Given the description of an element on the screen output the (x, y) to click on. 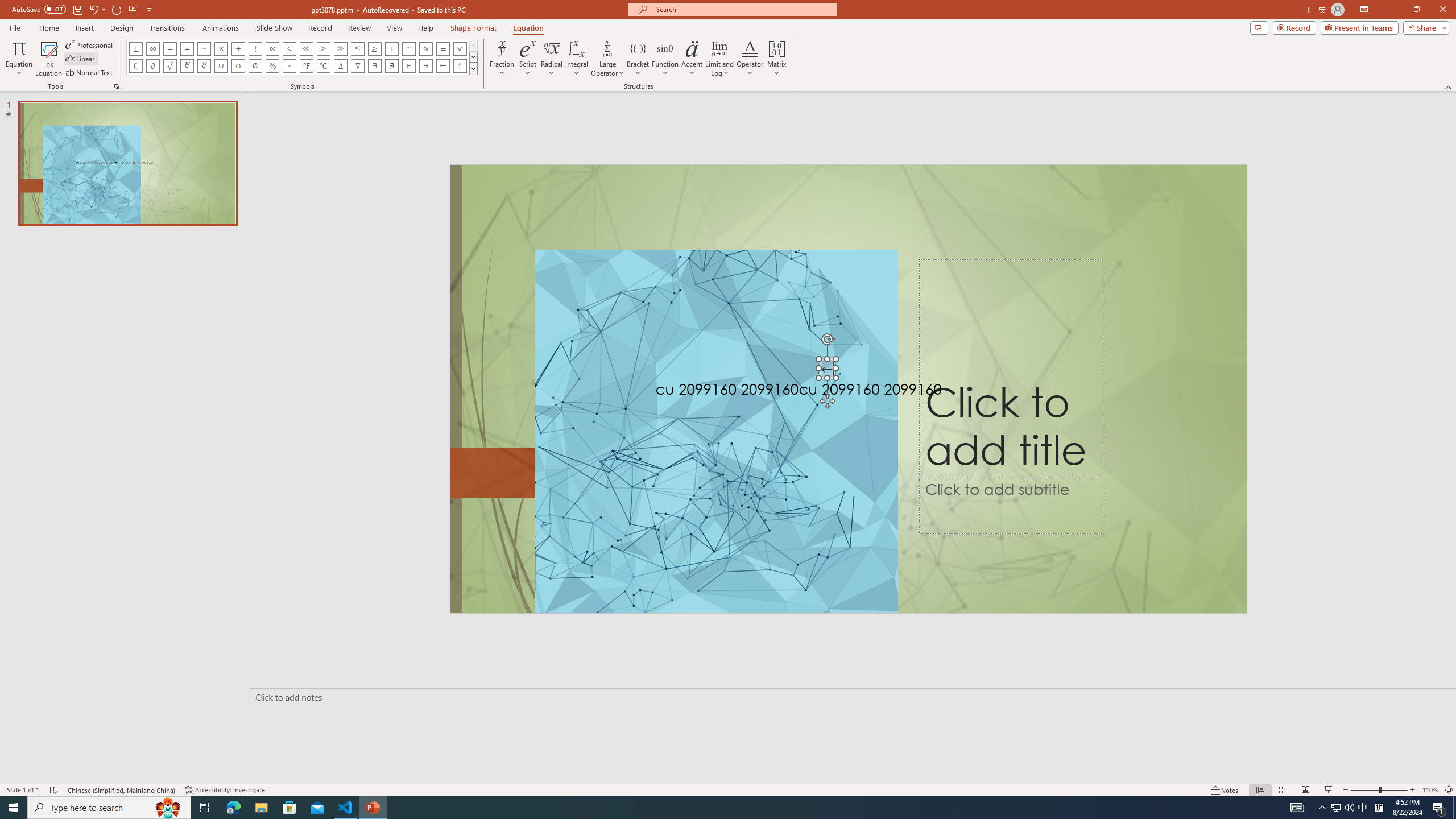
Linear (81, 58)
Equation Symbol Left Arrow (442, 65)
Equation Symbol Identical To (442, 48)
Ink Equation (48, 58)
Equation Symbol Union (221, 65)
Equation Symbol Division Sign (238, 48)
Equation Symbol Percentage (272, 65)
Equation Symbol Element Of (408, 65)
